Given the description of an element on the screen output the (x, y) to click on. 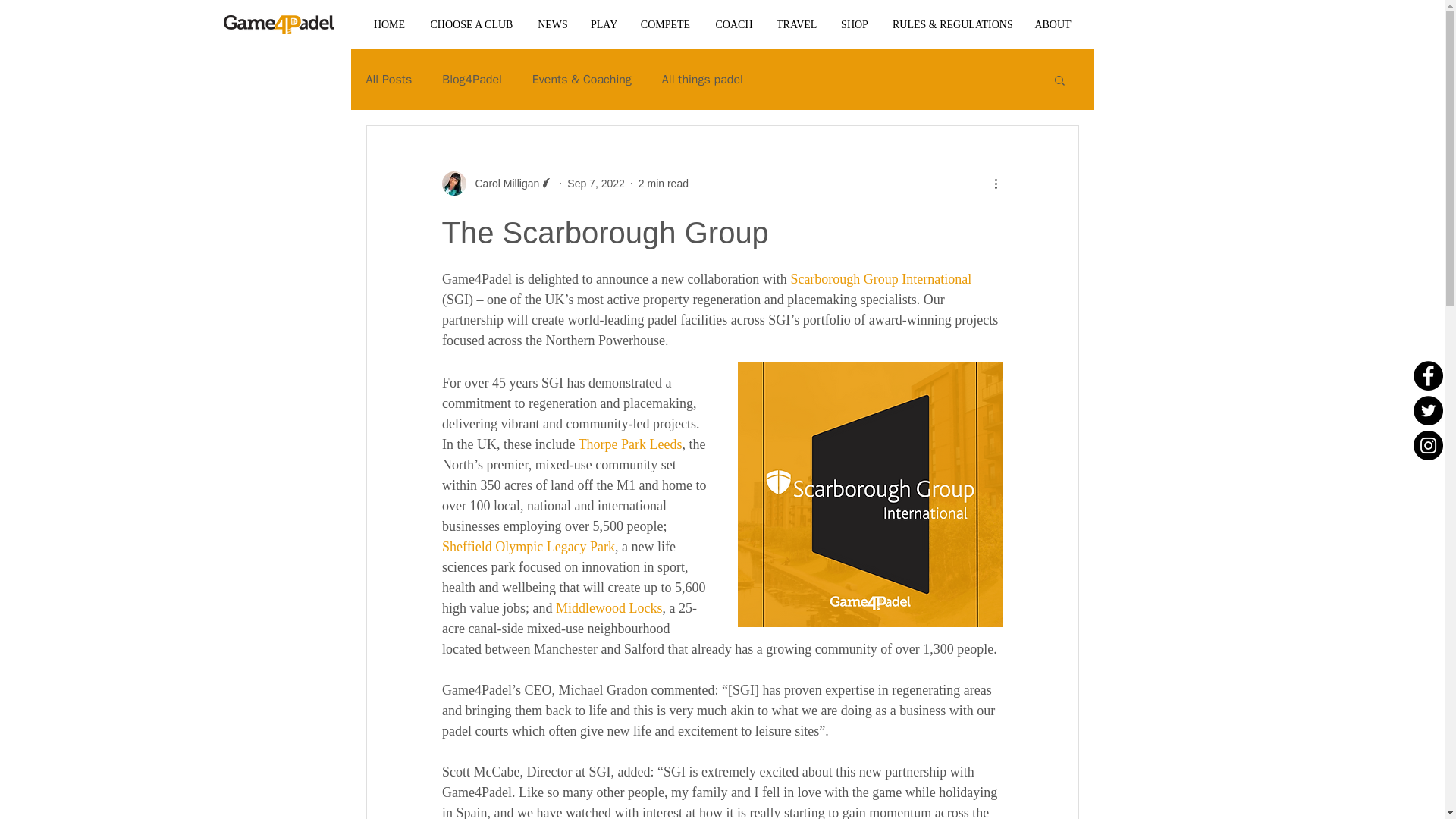
Carol Milligan (497, 183)
HOME (388, 24)
All Posts (388, 78)
TRAVEL (796, 24)
Scarborough Group International (880, 278)
Sheffield Olympic Legacy Park (527, 546)
NEWS (552, 24)
All things padel (702, 78)
Middlewood Locks (607, 607)
Blog4Padel (472, 78)
Sep 7, 2022 (595, 183)
CHOOSE A CLUB (470, 24)
SHOP (854, 24)
Thorpe Park Leeds (629, 444)
Carol Milligan (501, 183)
